Given the description of an element on the screen output the (x, y) to click on. 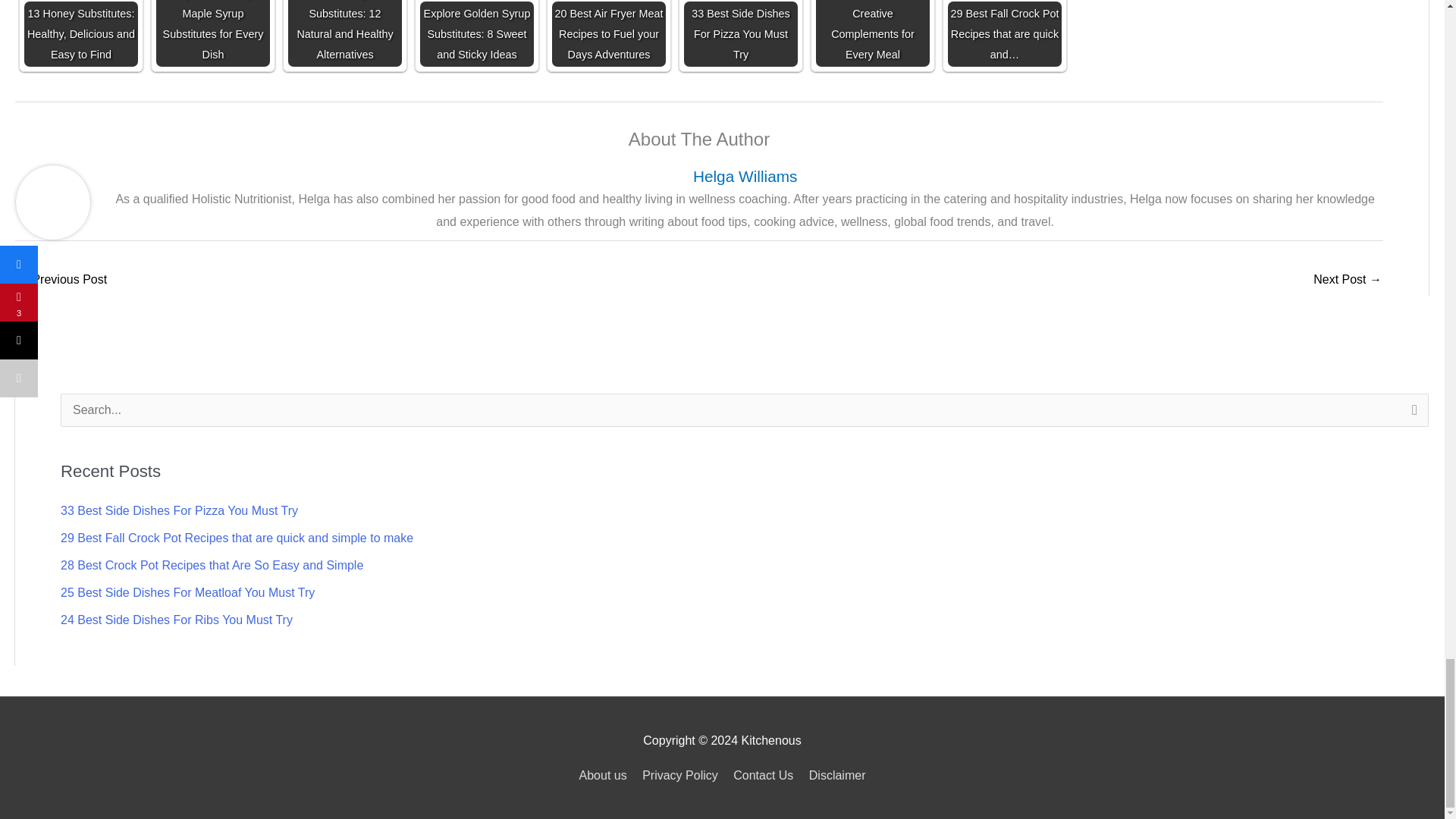
Brown Sugar Substitutes: 12 Natural and Healthy Alternatives (344, 33)
35 Ham Side Dishes: Creative Complements for Every Meal (872, 33)
Helga Williams (744, 176)
20 Best Air Fryer Meat Recipes to Fuel your Days Adventures (608, 33)
33 Best Side Dishes For Pizza You Must Try (179, 510)
Brown Sugar Substitutes: 12 Natural and Healthy Alternatives (344, 33)
24 Best Side Dishes For Ribs You Must Try (176, 619)
About us (606, 775)
